Given the description of an element on the screen output the (x, y) to click on. 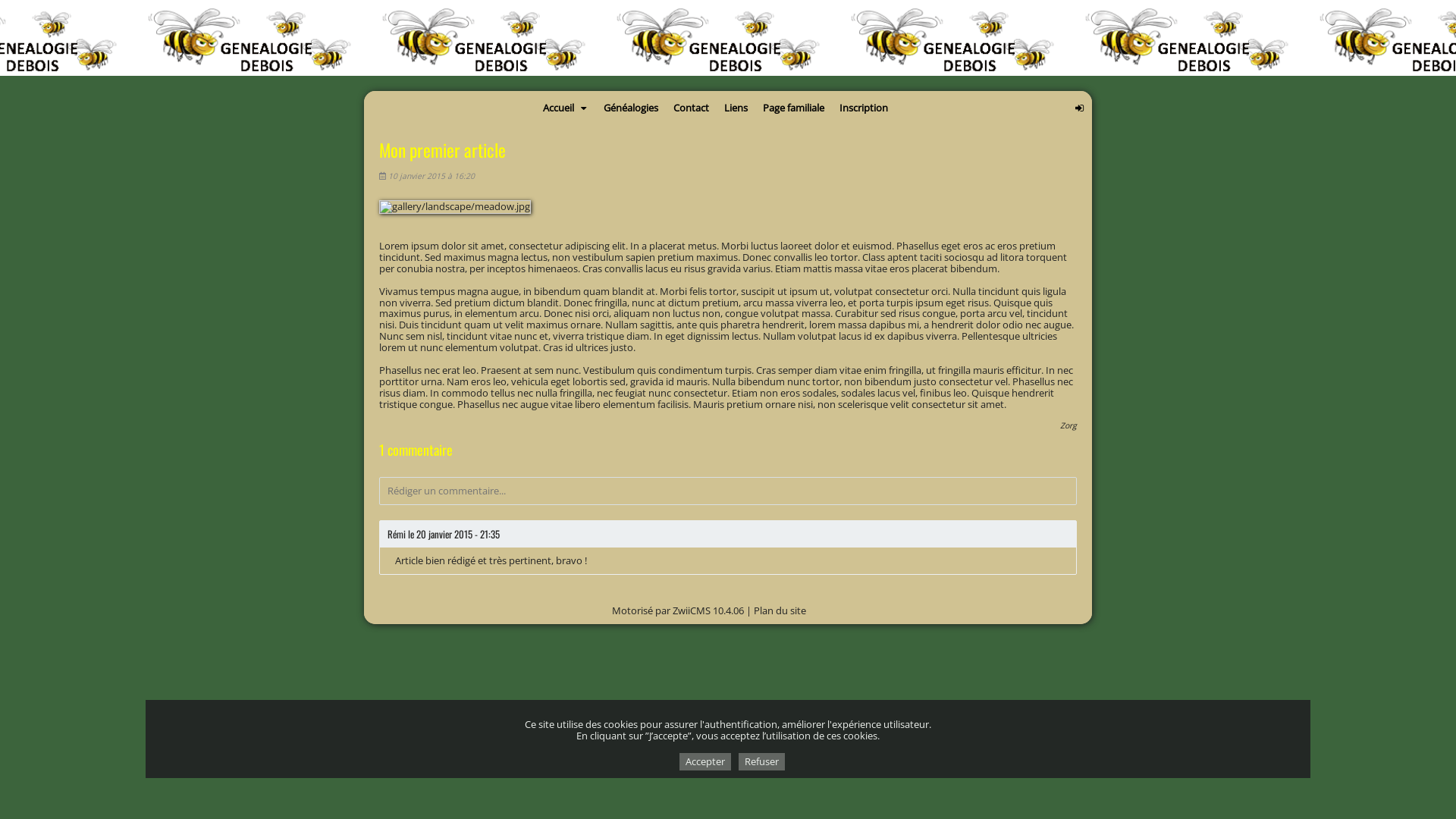
Accueil Element type: text (565, 108)
Liens Element type: text (735, 108)
ZwiiCMS Element type: text (691, 610)
Plan du site Element type: text (779, 610)
Inscription Element type: text (863, 108)
Contact Element type: text (690, 108)
Page familiale Element type: text (793, 108)
